Given the description of an element on the screen output the (x, y) to click on. 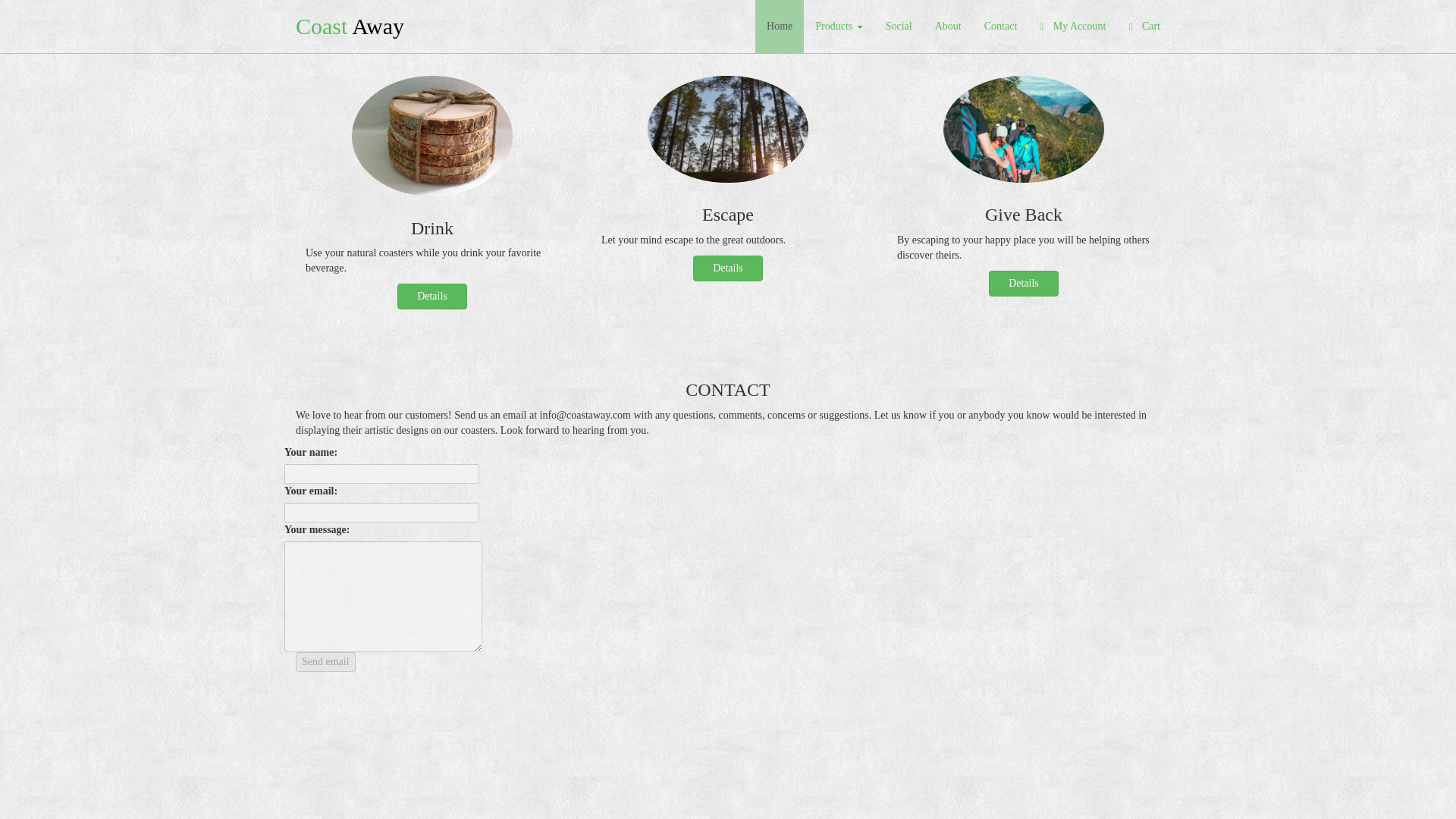
About (947, 26)
Cart (1144, 26)
Details (727, 268)
My Account (1071, 26)
Details (432, 296)
Products (839, 26)
Social (899, 26)
Contact (1000, 26)
Home (779, 26)
Coast Away (348, 26)
